Given the description of an element on the screen output the (x, y) to click on. 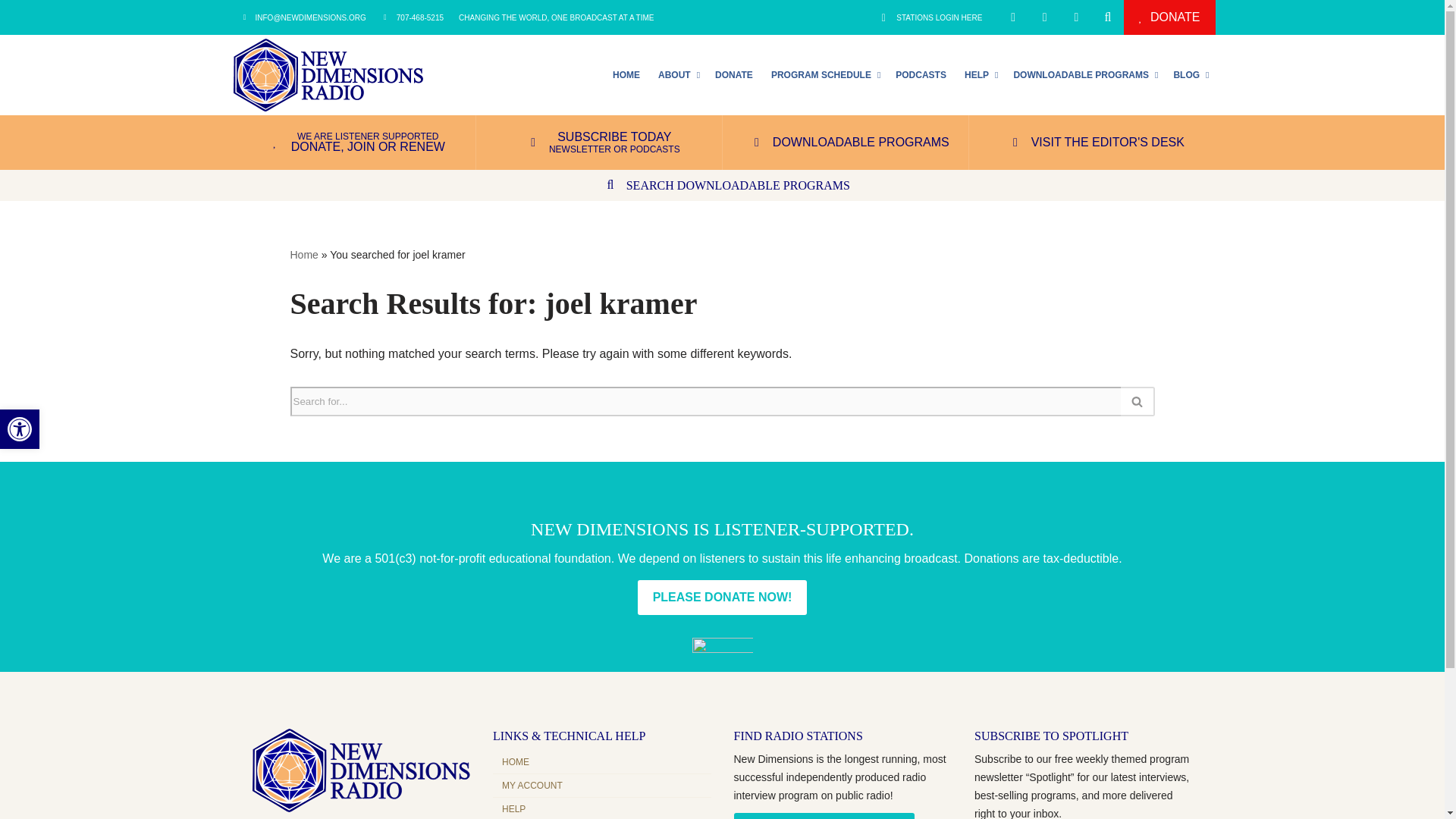
HOME (626, 74)
707-468-5215 (19, 428)
BLOG (412, 17)
ABOUT (1188, 74)
DOWNLOADABLE PROGRAMS (677, 74)
DONATE (1083, 74)
PROGRAM SCHEDULE (733, 74)
STATIONS LOGIN HERE (823, 74)
DONATE (929, 16)
PODCASTS (1169, 17)
Accessibility Tools (920, 74)
Accessibility Tools (19, 428)
HELP (19, 428)
